Given the description of an element on the screen output the (x, y) to click on. 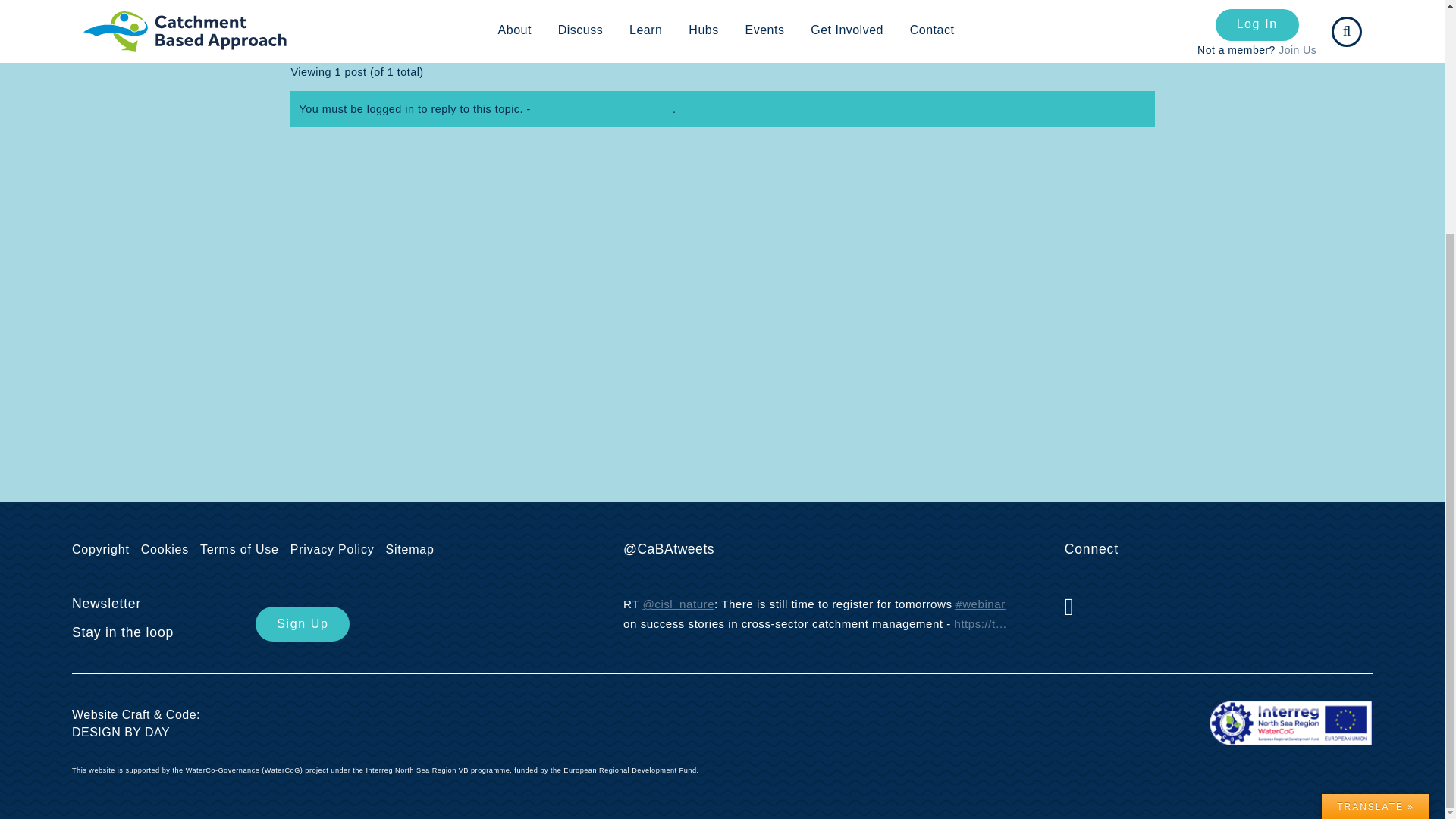
Sign Up (302, 624)
Terms of Use (243, 549)
Cookies (168, 549)
Sign in to reply to this post (603, 109)
Sitemap (413, 549)
Copyright (103, 549)
Not a member? Sign up (750, 109)
Privacy Policy (335, 549)
